Given the description of an element on the screen output the (x, y) to click on. 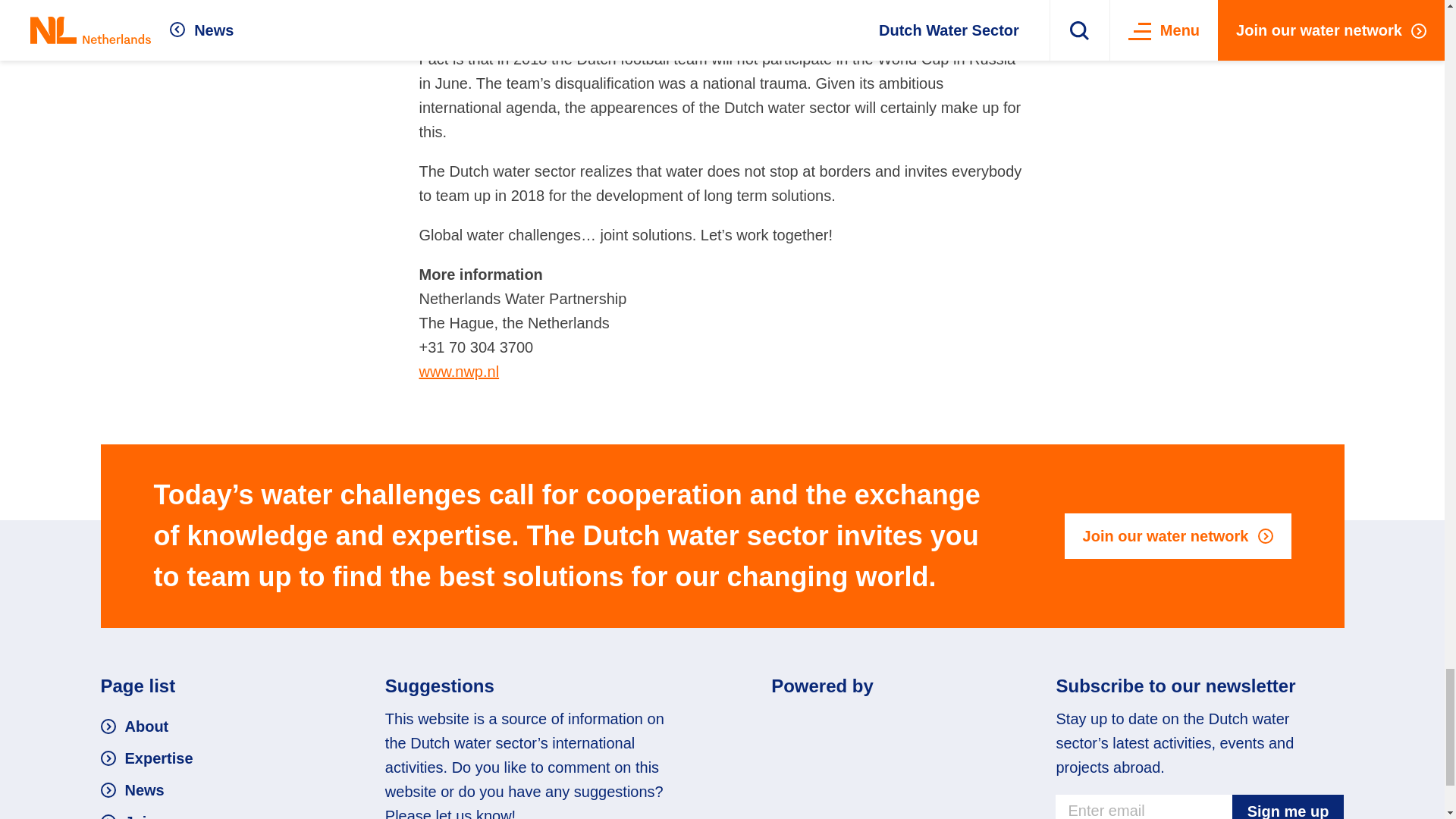
Image (864, 723)
About (134, 726)
Join our water network (1177, 535)
Expertise (146, 758)
www.nwp.nl (459, 371)
News (131, 790)
